Given the description of an element on the screen output the (x, y) to click on. 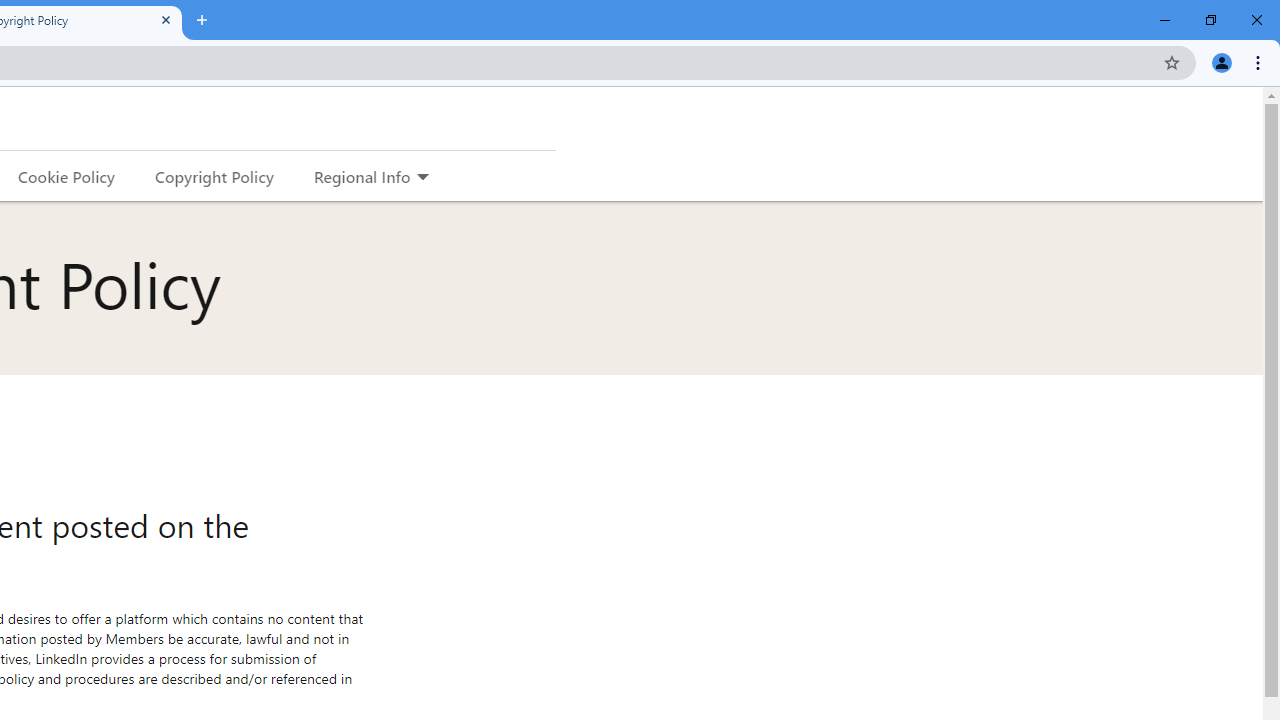
Copyright Policy (213, 176)
Expand to show more links for Regional Info (422, 178)
Regional Info (361, 176)
Cookie Policy (66, 176)
